Given the description of an element on the screen output the (x, y) to click on. 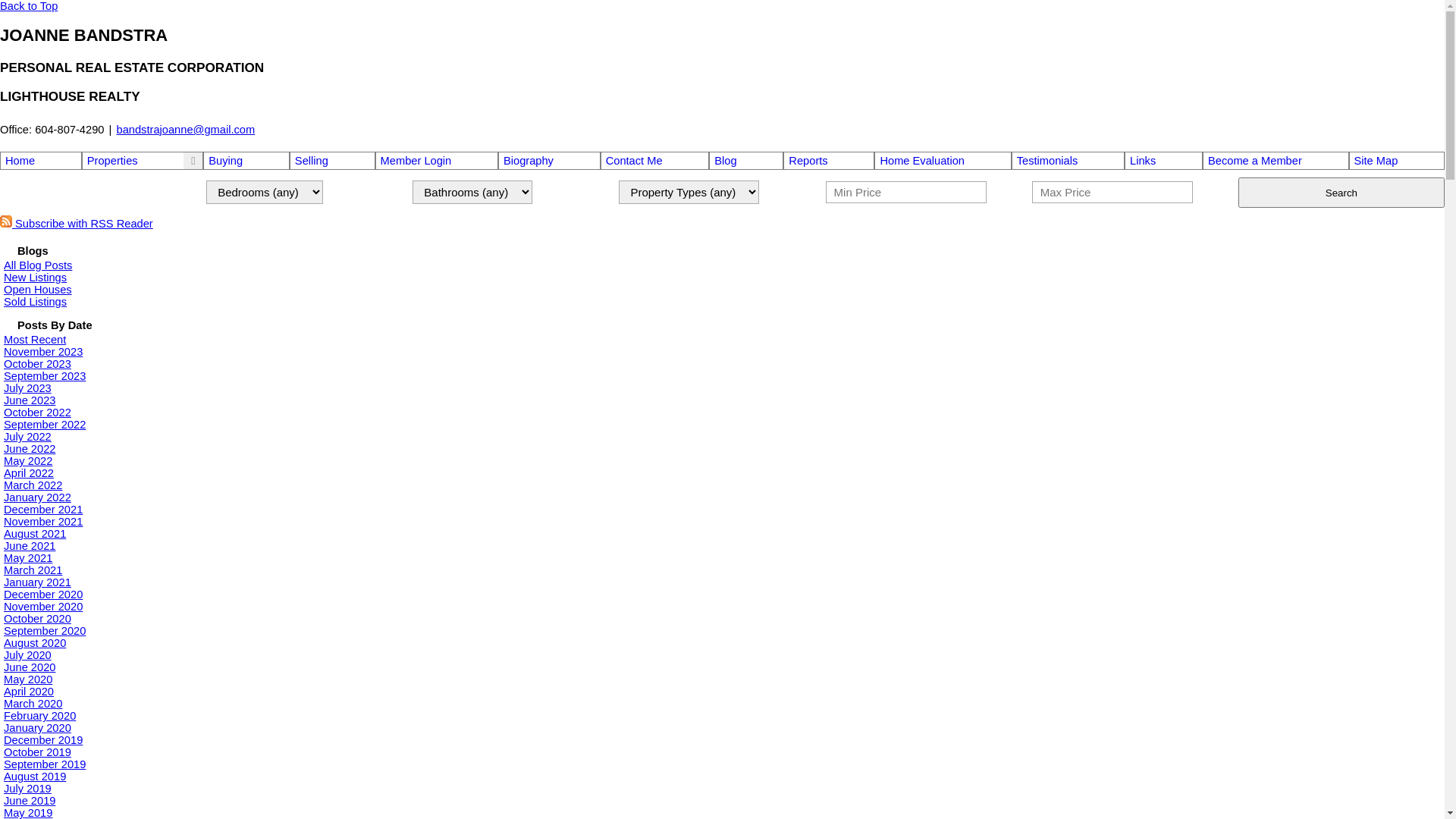
November 2021 Element type: text (42, 521)
June 2022 Element type: text (29, 448)
Search Element type: text (1341, 192)
Back to Top Element type: text (28, 6)
bandstrajoanne@gmail.com Element type: text (185, 129)
August 2021 Element type: text (34, 533)
September 2023 Element type: text (44, 376)
Member Login Element type: text (436, 160)
January 2022 Element type: text (37, 497)
December 2021 Element type: text (42, 509)
January 2021 Element type: text (37, 582)
July 2022 Element type: text (27, 436)
June 2023 Element type: text (29, 400)
June 2020 Element type: text (29, 667)
March 2021 Element type: text (32, 570)
Most Recent Element type: text (34, 339)
June 2021 Element type: text (29, 545)
Subscribe with RSS Reader Element type: text (76, 223)
All Blog Posts Element type: text (37, 265)
May 2020 Element type: text (27, 679)
Open Houses Element type: text (37, 289)
October 2022 Element type: text (37, 412)
Site Map Element type: text (1397, 160)
June 2019 Element type: text (29, 800)
October 2023 Element type: text (37, 363)
April 2022 Element type: text (28, 473)
May 2022 Element type: text (27, 461)
July 2023 Element type: text (27, 388)
March 2022 Element type: text (32, 485)
Home Element type: text (40, 160)
November 2020 Element type: text (42, 606)
July 2019 Element type: text (27, 788)
Properties Element type: text (112, 160)
Blog Element type: text (746, 160)
February 2020 Element type: text (39, 715)
Testimonials Element type: text (1067, 160)
Become a Member Element type: text (1275, 160)
Biography Element type: text (549, 160)
Sold Listings Element type: text (34, 301)
Reports Element type: text (828, 160)
September 2022 Element type: text (44, 424)
March 2020 Element type: text (32, 703)
New Listings Element type: text (34, 277)
December 2020 Element type: text (42, 594)
September 2019 Element type: text (44, 764)
Links Element type: text (1163, 160)
October 2020 Element type: text (37, 618)
July 2020 Element type: text (27, 655)
August 2020 Element type: text (34, 643)
August 2019 Element type: text (34, 776)
Selling Element type: text (332, 160)
January 2020 Element type: text (37, 727)
December 2019 Element type: text (42, 740)
April 2020 Element type: text (28, 691)
Buying Element type: text (246, 160)
May 2021 Element type: text (27, 558)
November 2023 Element type: text (42, 351)
Home Evaluation Element type: text (942, 160)
September 2020 Element type: text (44, 630)
Contact Me Element type: text (654, 160)
October 2019 Element type: text (37, 752)
